Given the description of an element on the screen output the (x, y) to click on. 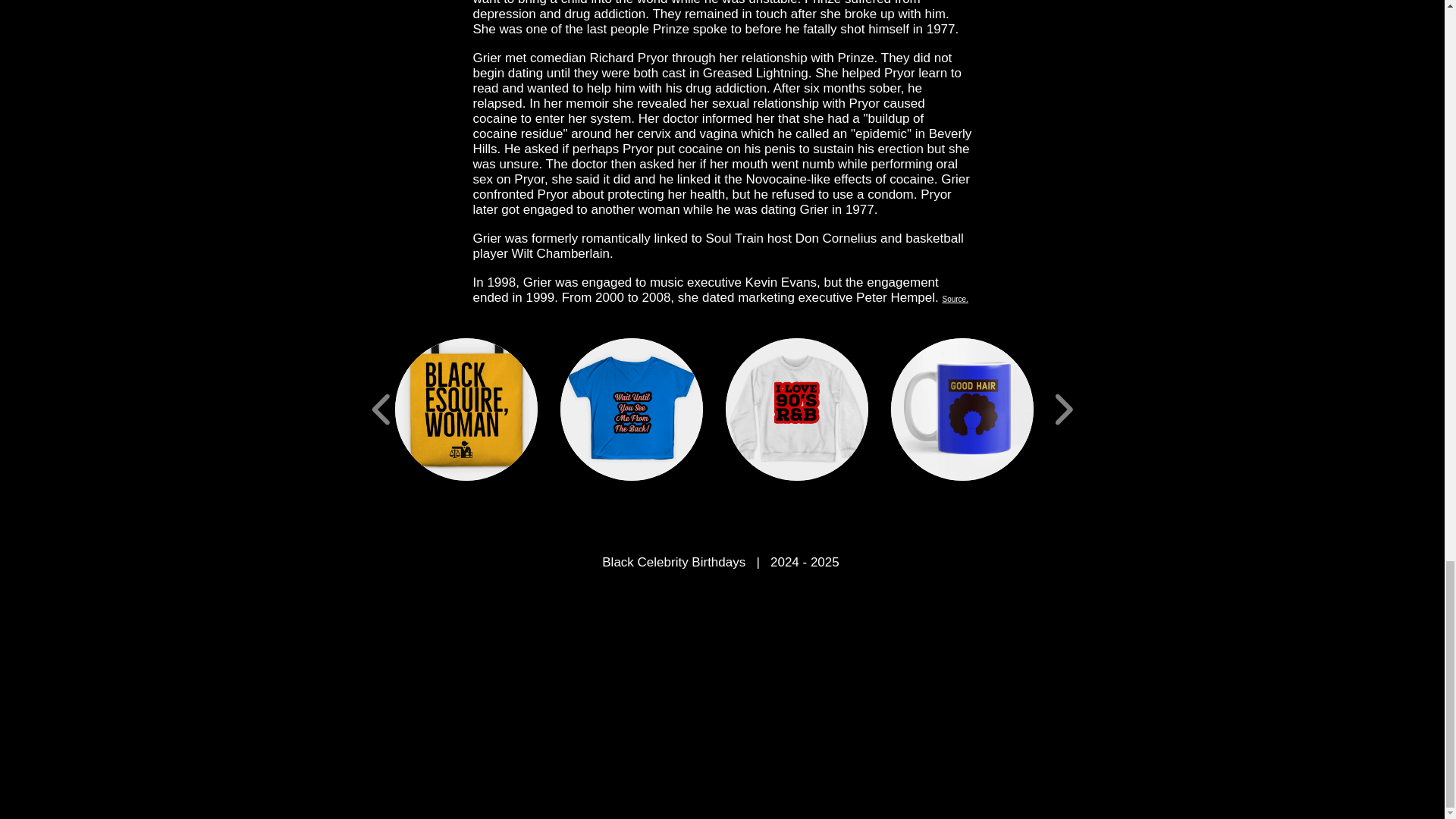
Source. (955, 297)
